Given the description of an element on the screen output the (x, y) to click on. 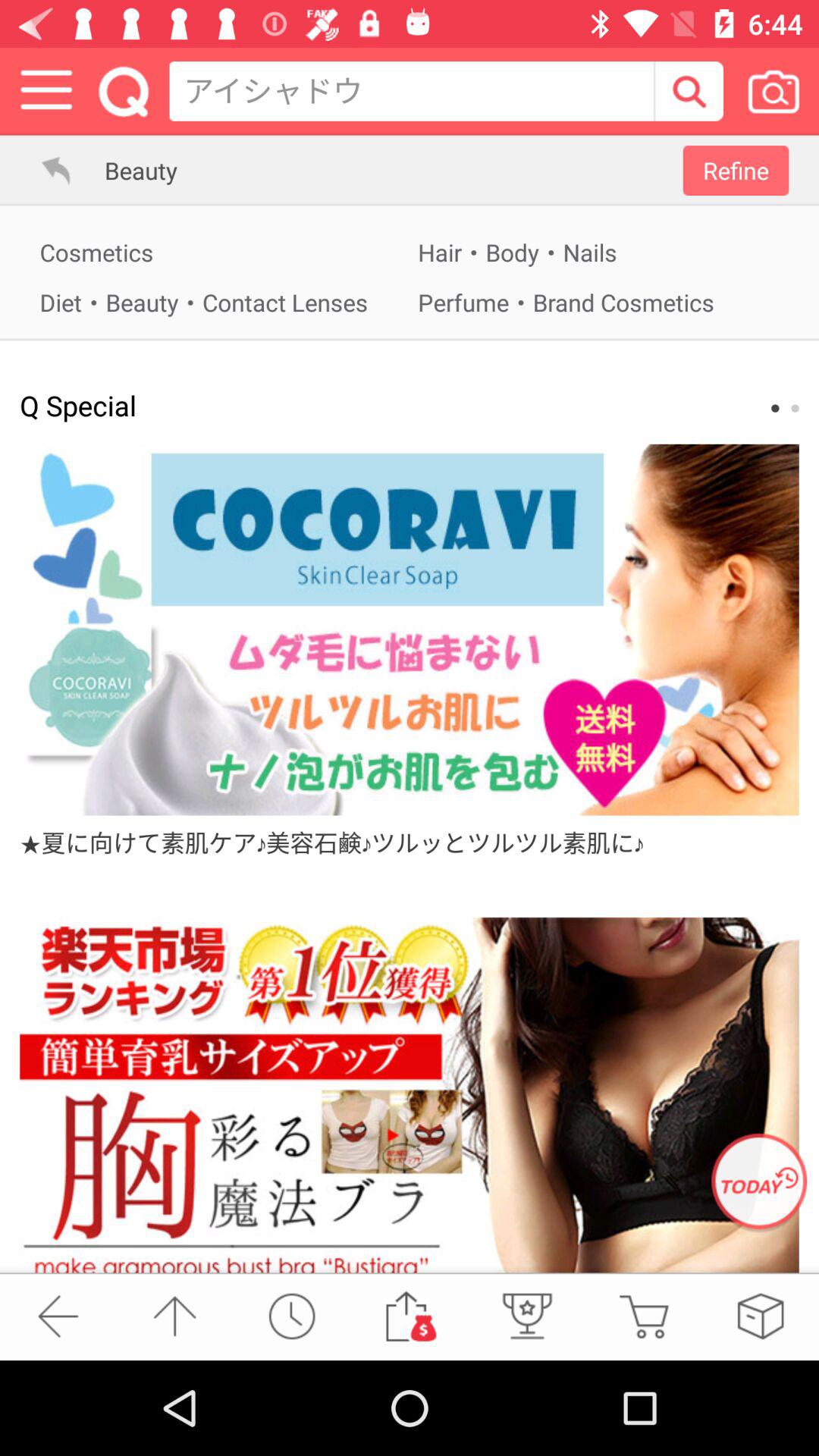
go to sand (408, 1316)
